Given the description of an element on the screen output the (x, y) to click on. 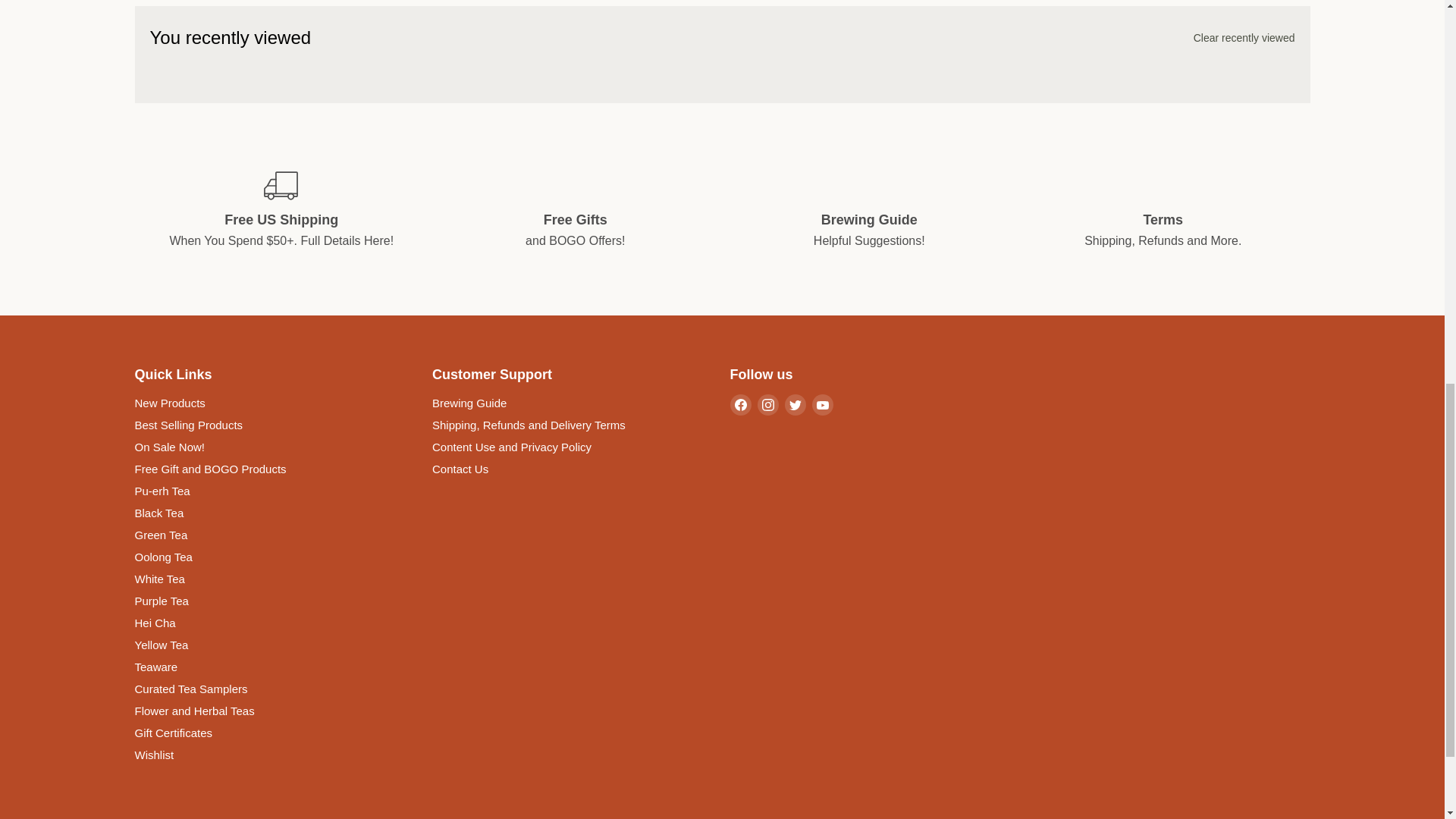
Instagram (767, 404)
Twitter (794, 404)
YouTube (821, 404)
Facebook (740, 404)
